Given the description of an element on the screen output the (x, y) to click on. 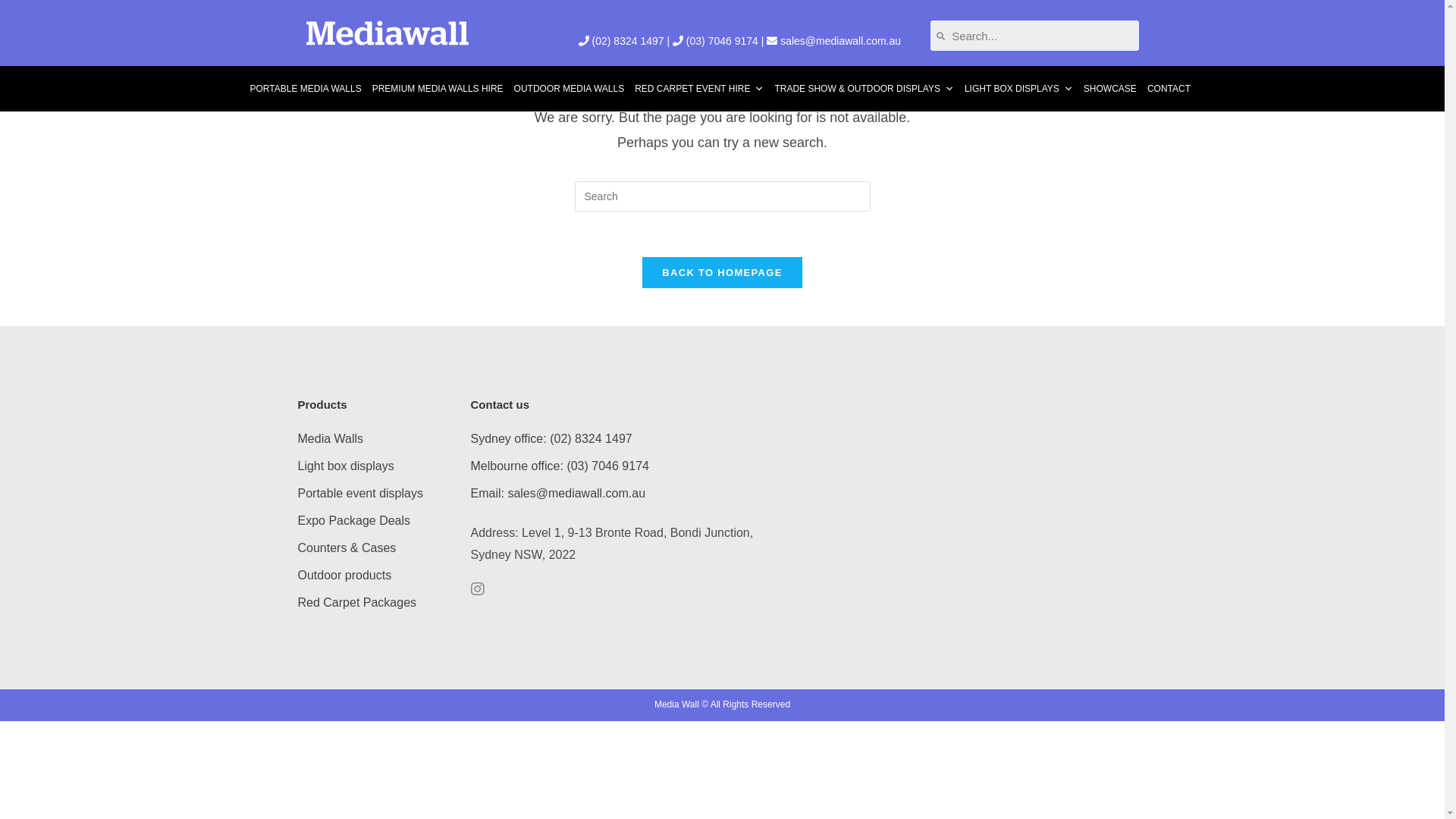
logo (1) Element type: hover (386, 32)
Portable event displays Element type: text (359, 492)
PREMIUM MEDIA WALLS HIRE Element type: text (437, 88)
(03) 7046 9174 Element type: text (722, 40)
sales@mediawall.com.au Element type: text (840, 40)
RED CARPET EVENT HIRE Element type: text (698, 88)
Search Element type: hover (1041, 35)
LIGHT BOX DISPLAYS Element type: text (1018, 88)
Light box displays Element type: text (345, 465)
Counters & Cases Element type: text (346, 547)
Red Carpet Packages Element type: text (356, 602)
CONTACT Element type: text (1168, 88)
Media Walls Element type: text (330, 438)
Melbourne office: (03) 7046 9174 Element type: text (559, 465)
(02) 8324 1497 Element type: text (628, 40)
SHOWCASE Element type: text (1110, 88)
TRADE SHOW & OUTDOOR DISPLAYS Element type: text (863, 88)
PORTABLE MEDIA WALLS Element type: text (305, 88)
BACK TO HOMEPAGE Element type: text (721, 272)
Outdoor products Element type: text (344, 574)
Email: sales@mediawall.com.au Element type: text (557, 492)
OUTDOOR MEDIA WALLS Element type: text (569, 88)
Sydney office: (02) 8324 1497 Element type: text (550, 438)
Expo Package Deals Element type: text (353, 520)
